Given the description of an element on the screen output the (x, y) to click on. 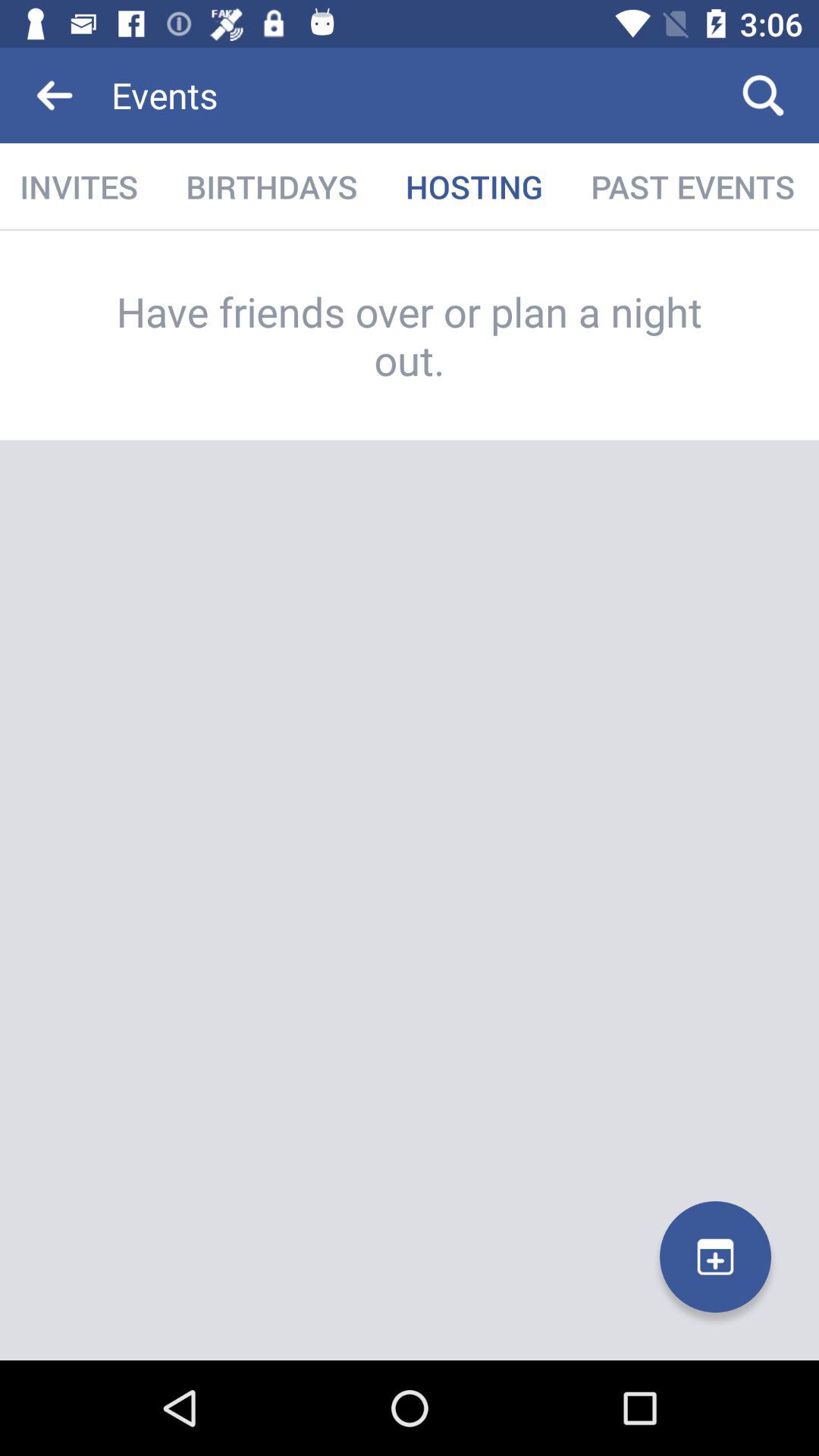
select the icon next to past events item (474, 186)
